Given the description of an element on the screen output the (x, y) to click on. 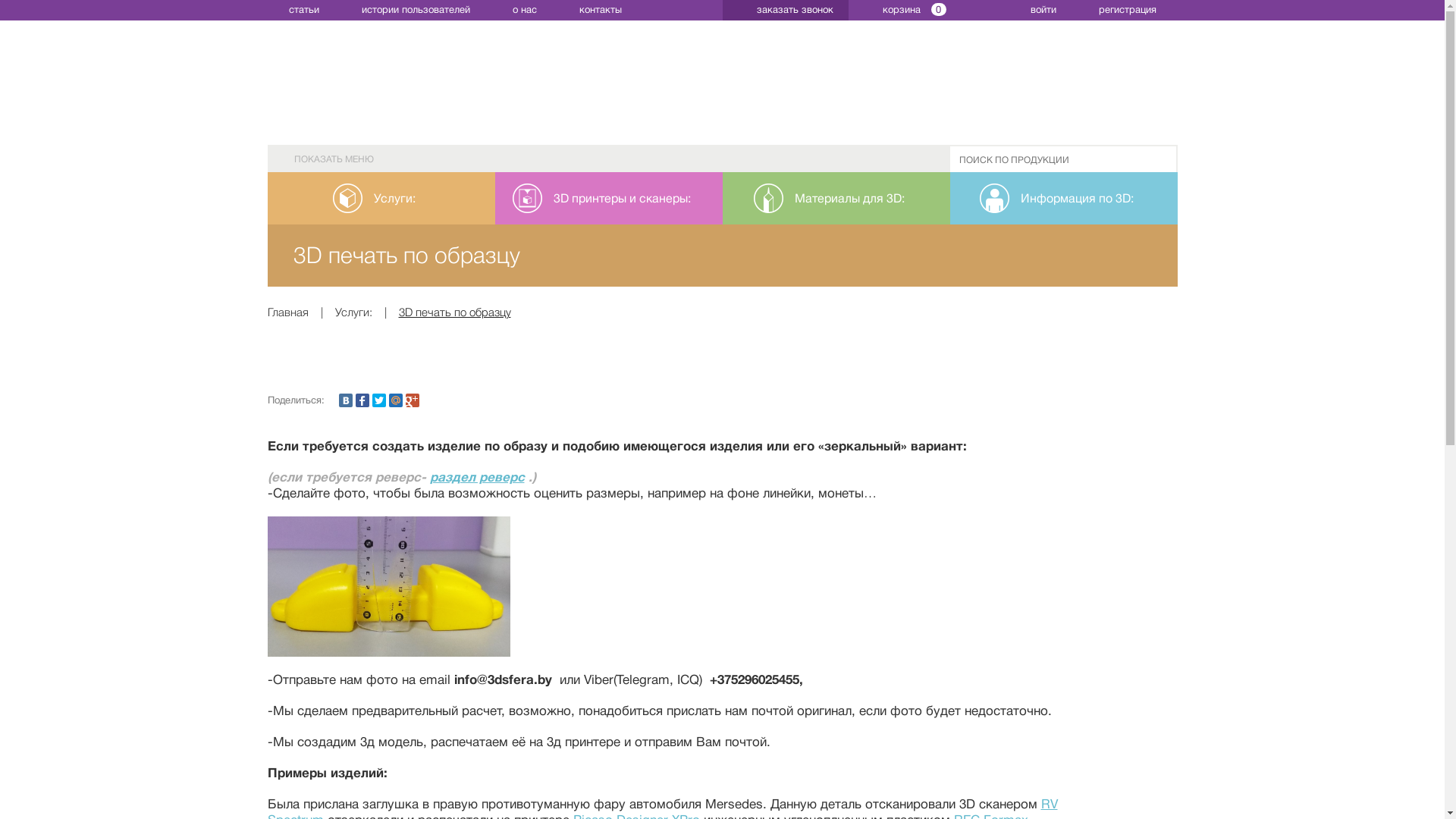
Facebook Element type: hover (361, 400)
Twitter Element type: hover (378, 400)
Google Plus Element type: hover (411, 400)
